Given the description of an element on the screen output the (x, y) to click on. 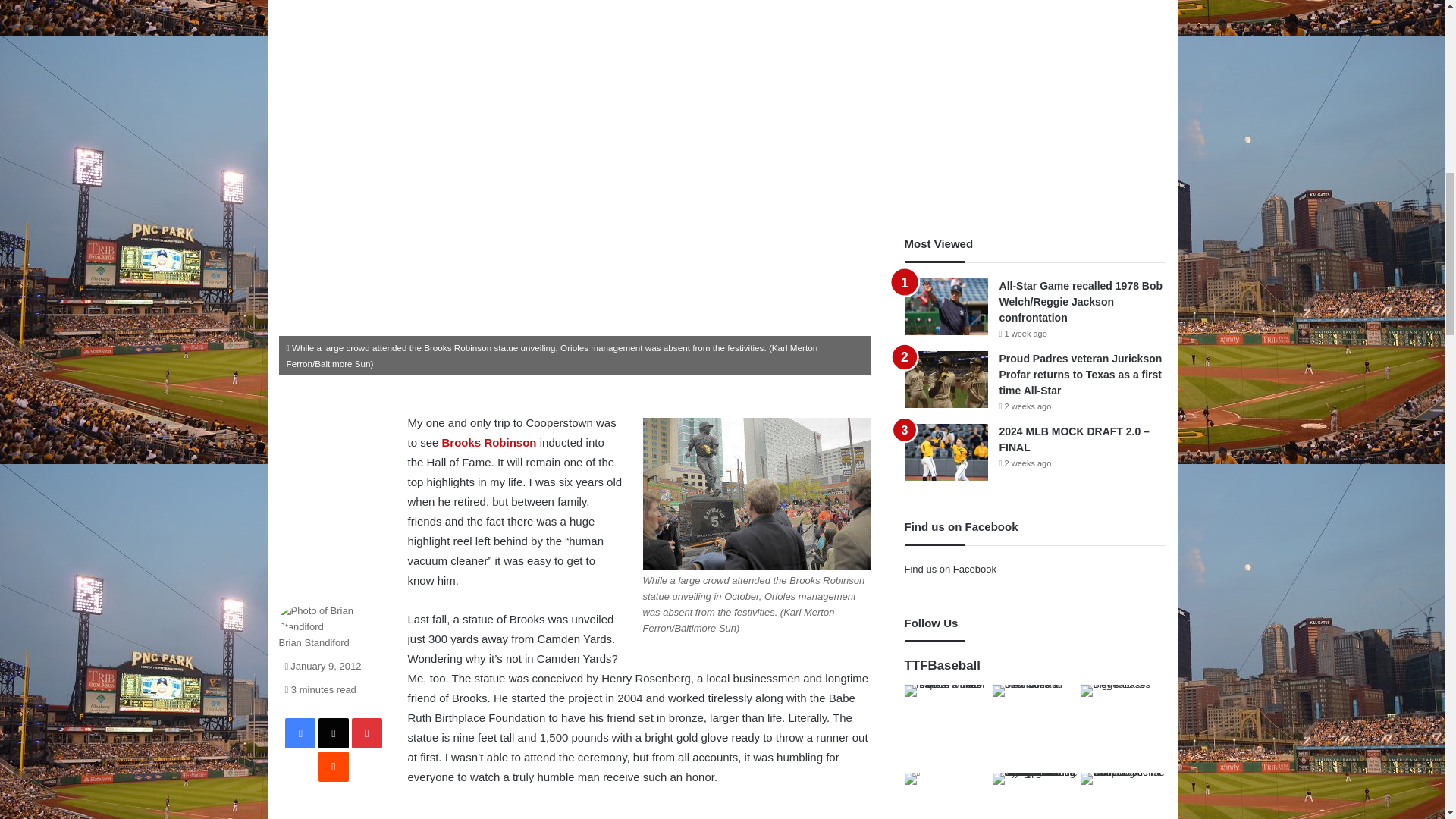
Pinterest (366, 733)
Reddit (333, 766)
Advertisement (638, 812)
65589284 (756, 493)
Facebook (300, 733)
Advertisement (333, 504)
X (333, 733)
Brian Standiford (314, 642)
